Given the description of an element on the screen output the (x, y) to click on. 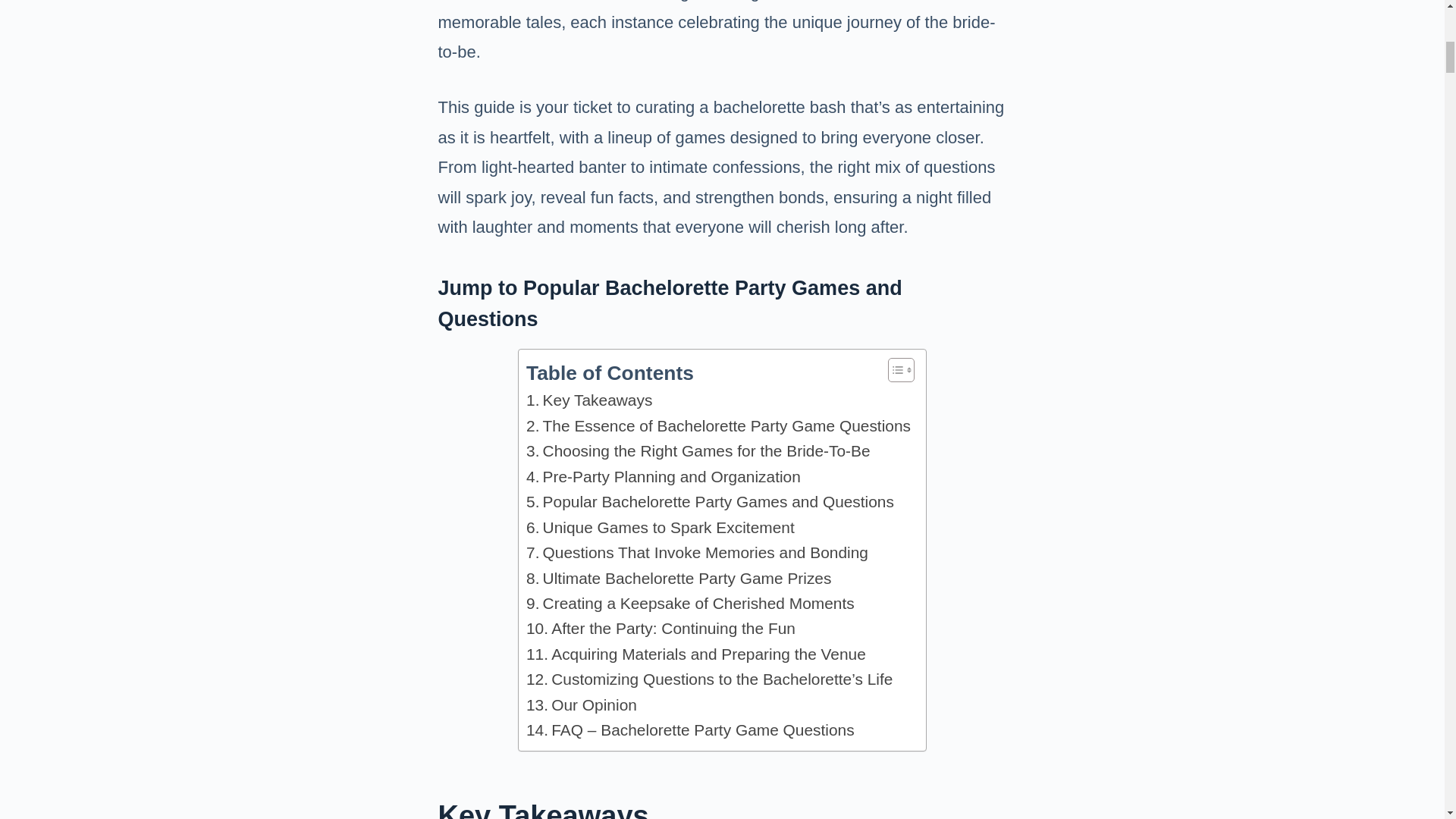
After the Party: Continuing the Fun (659, 627)
Acquiring Materials and Preparing the Venue (695, 653)
Questions That Invoke Memories and Bonding (696, 552)
Popular Bachelorette Party Games and Questions (709, 501)
Pre-Party Planning and Organization (662, 476)
Unique Games to Spark Excitement (659, 527)
Creating a Keepsake of Cherished Moments (689, 602)
The Essence of Bachelorette Party Game Questions (718, 425)
Our Opinion (581, 704)
Key Takeaways (588, 399)
Ultimate Bachelorette Party Game Prizes (678, 577)
Choosing the Right Games for the Bride-To-Be (697, 450)
